Given the description of an element on the screen output the (x, y) to click on. 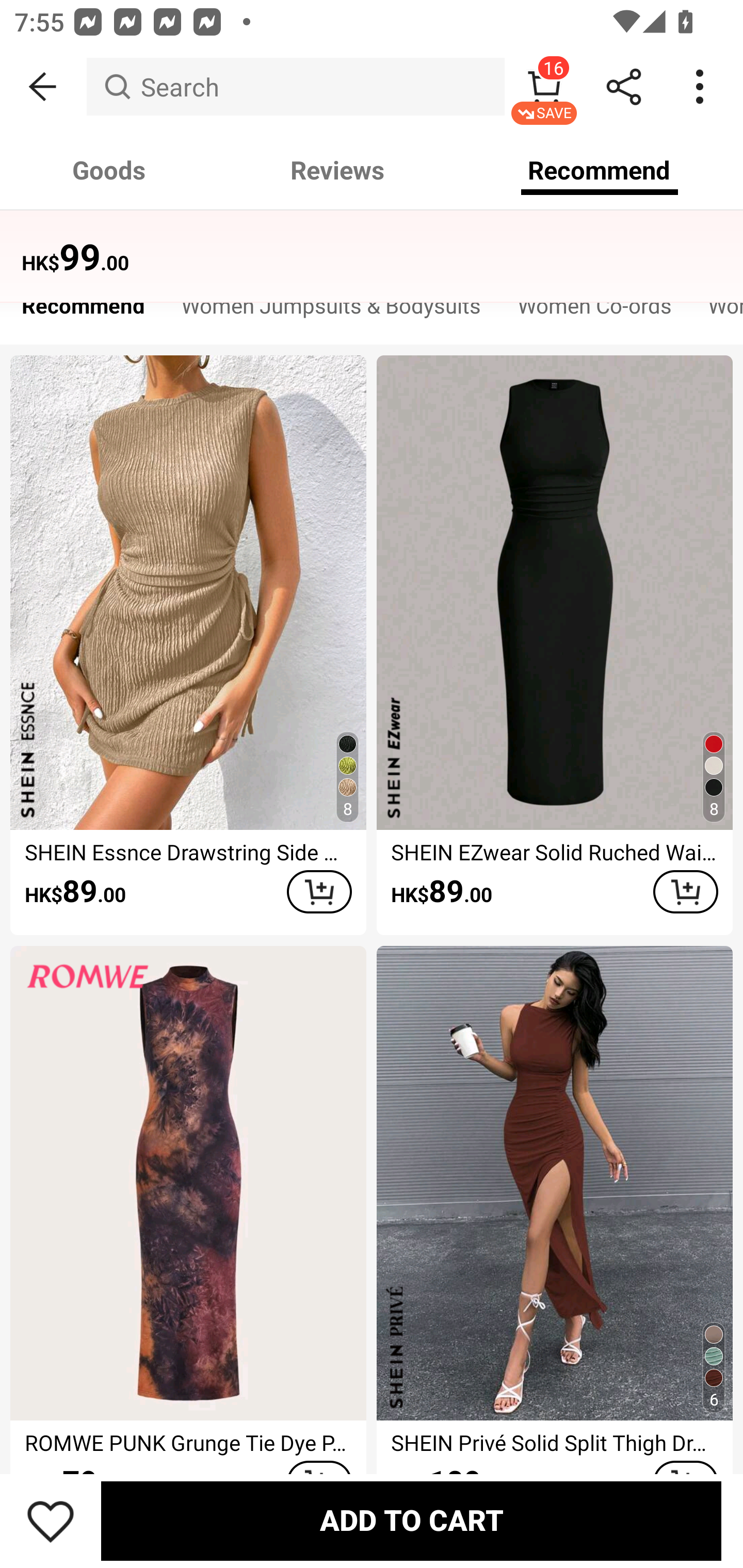
BACK (43, 86)
16 SAVE (543, 87)
Search (295, 87)
Goods (109, 170)
Reviews (337, 170)
Recommend (599, 170)
You May Also Like (371, 244)
Recommend (82, 310)
Women Jumpsuits & Bodysuits (330, 310)
Women Co-ords (594, 310)
ADD TO CART (319, 892)
ADD TO CART (685, 892)
ADD TO CART (411, 1520)
Save (50, 1520)
